Given the description of an element on the screen output the (x, y) to click on. 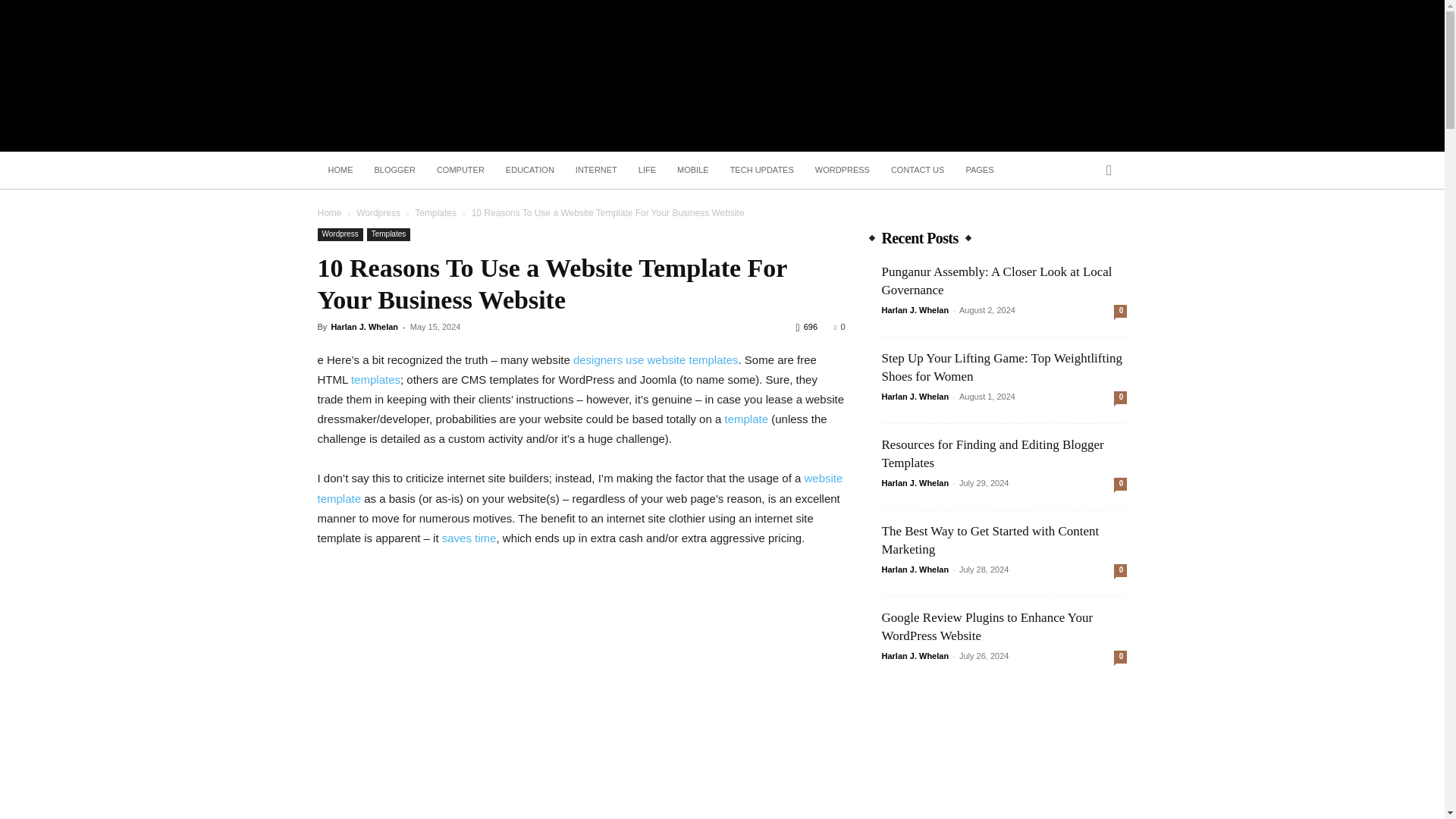
View all posts in Templates (435, 213)
View all posts in Wordpress (378, 213)
